Given the description of an element on the screen output the (x, y) to click on. 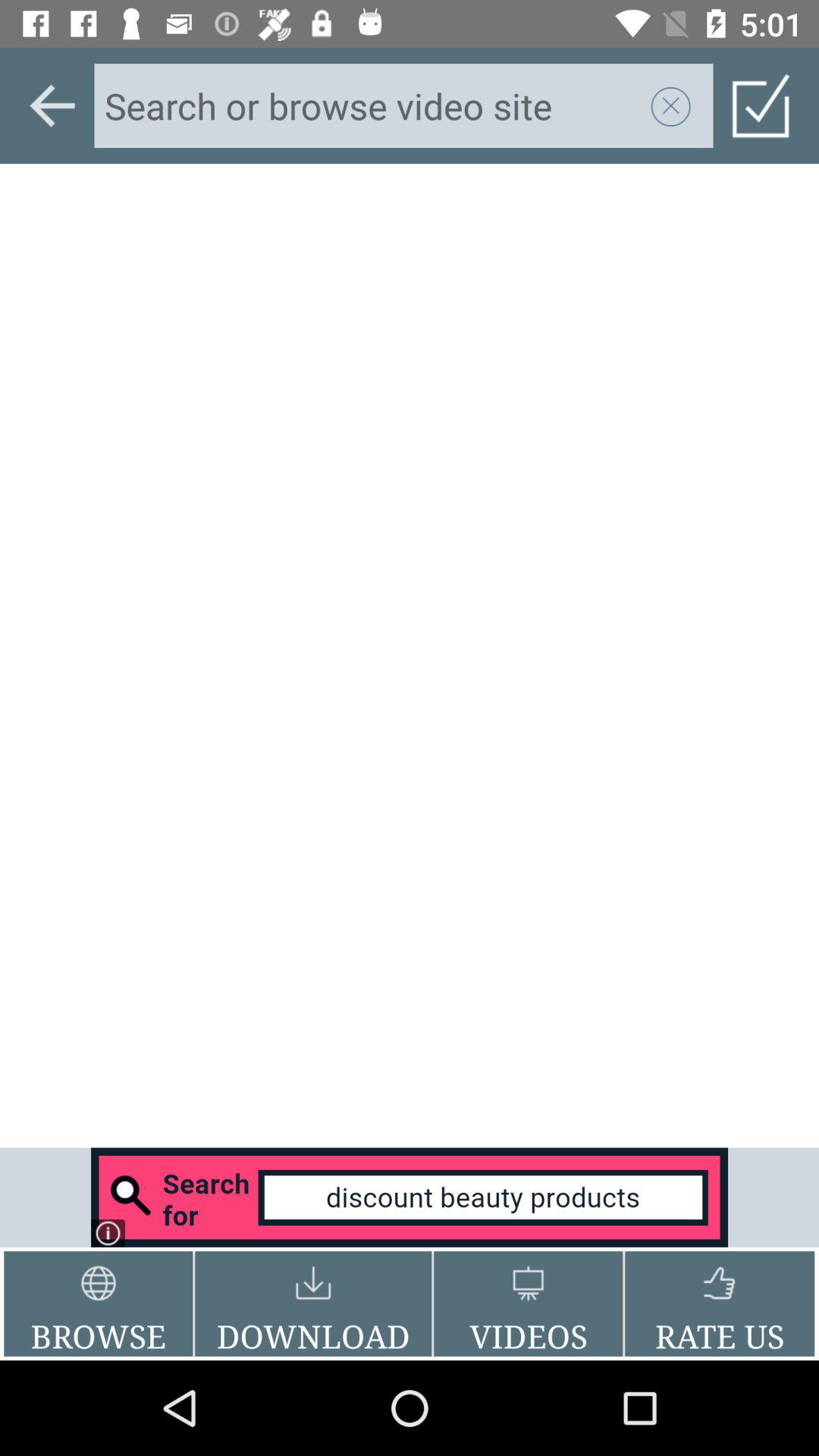
jump until the videos button (527, 1303)
